Given the description of an element on the screen output the (x, y) to click on. 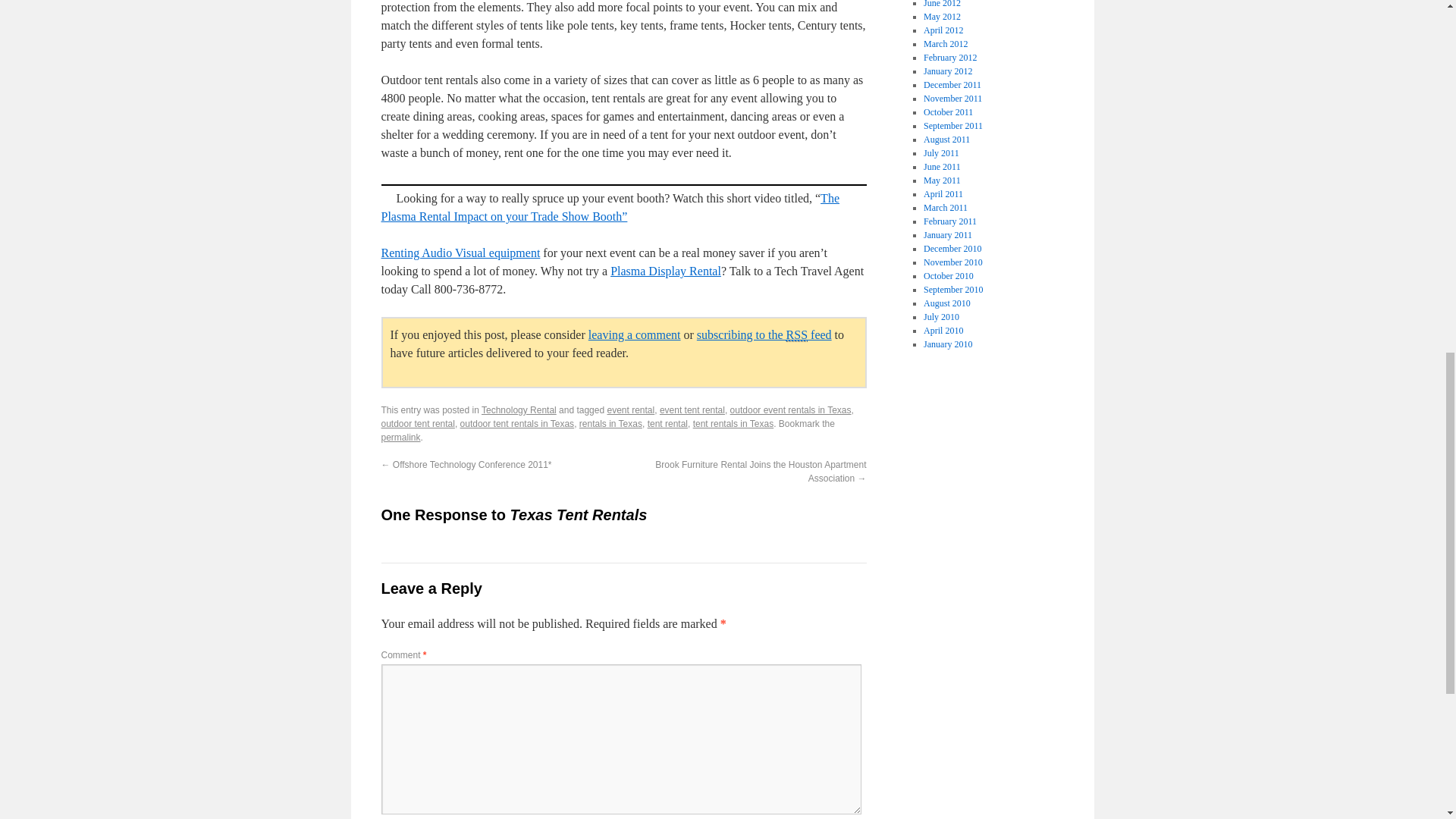
outdoor tent rentals in Texas (517, 423)
outdoor tent rental (417, 423)
subscribing to the RSS feed (764, 335)
event tent rental (692, 409)
outdoor event rentals in Texas (790, 409)
tent rental (667, 423)
Really Simple Syndication (797, 335)
Renting Audio Visual equipment (460, 252)
Syndicate this site using RSS (764, 335)
tent rentals in Texas (733, 423)
leaving a comment (634, 334)
rentals in Texas (610, 423)
Permalink to Texas Tent Rentals (400, 437)
Plasma Display Rental (665, 270)
permalink (400, 437)
